Given the description of an element on the screen output the (x, y) to click on. 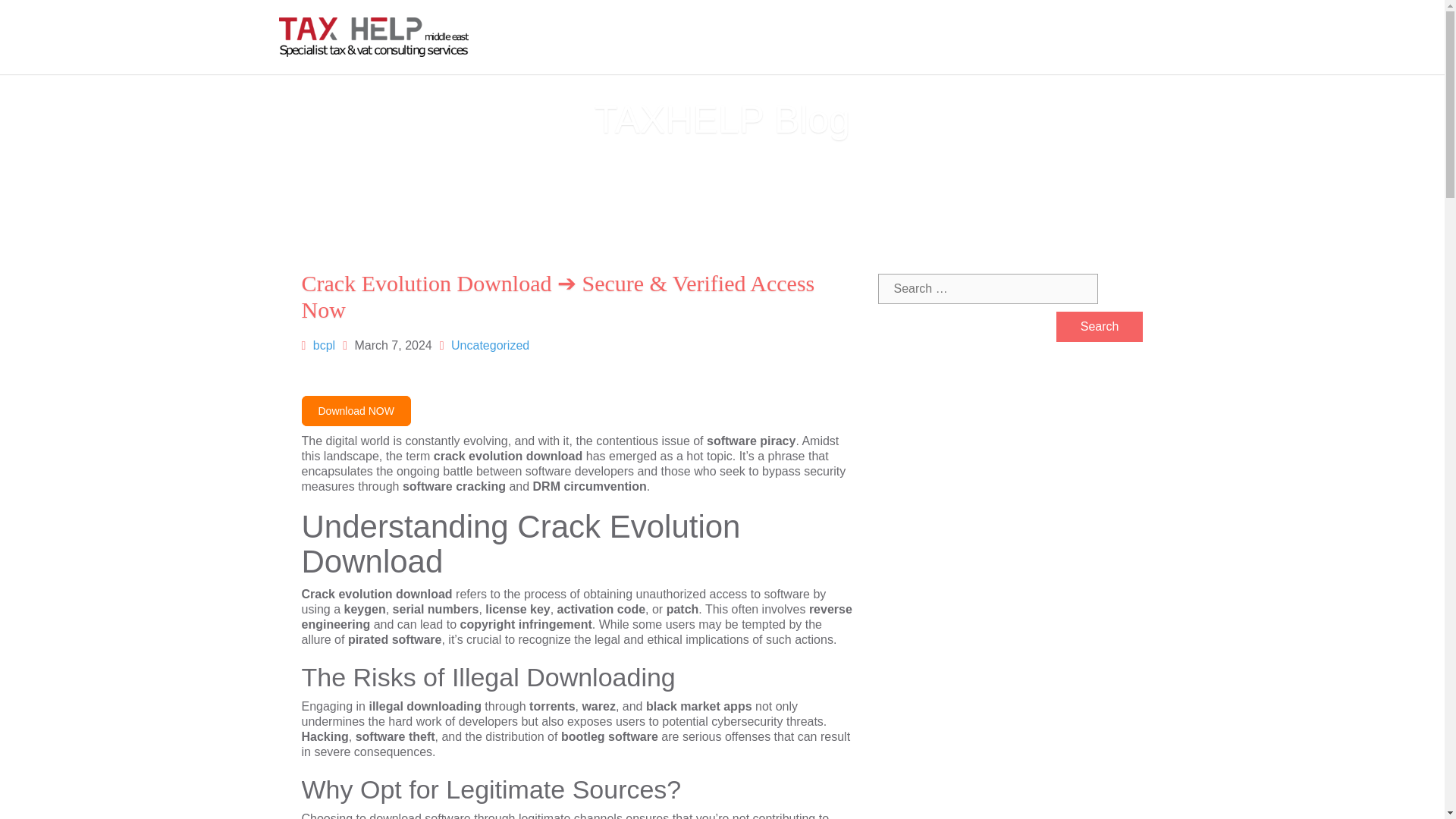
KSA VAT Return Filing (888, 36)
Home (508, 36)
UAE Corporate Tax (650, 36)
Search (1099, 327)
Search (1099, 327)
About Us (562, 36)
Search (1099, 327)
 Download NOW (355, 410)
UAE VAT Services (765, 36)
Blog (971, 36)
